Given the description of an element on the screen output the (x, y) to click on. 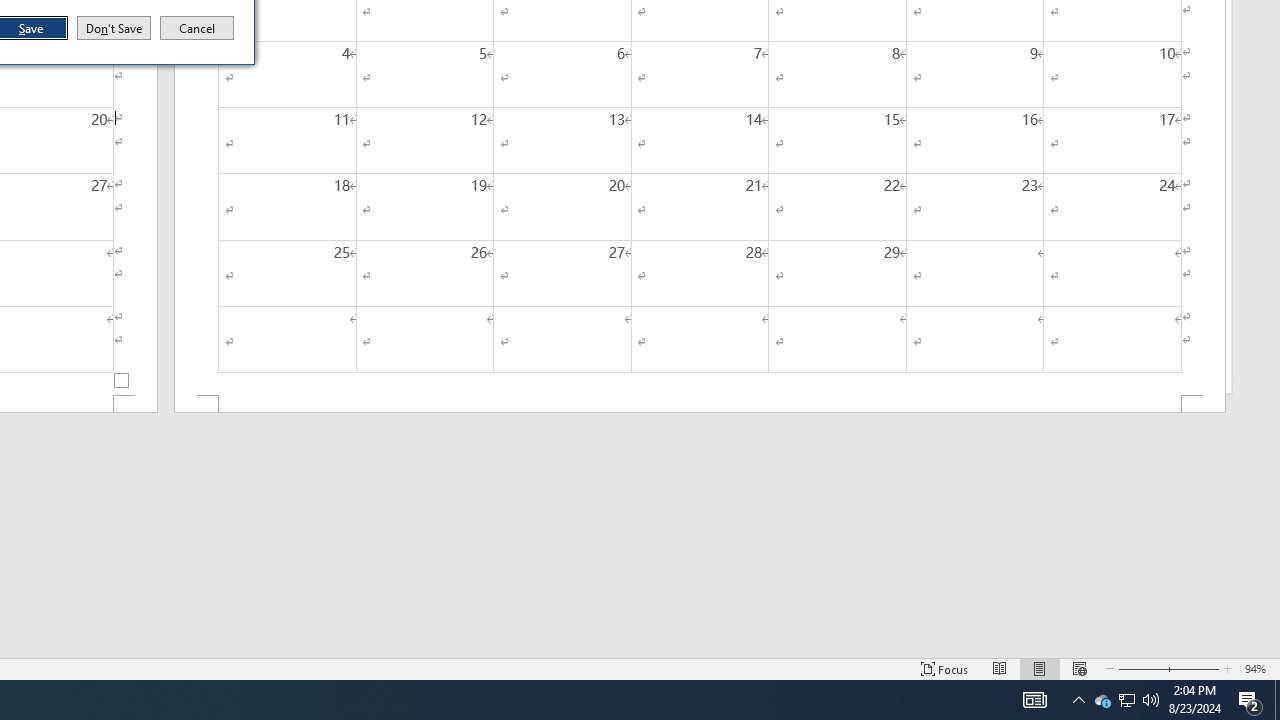
Footer -Section 2- (700, 404)
